Given the description of an element on the screen output the (x, y) to click on. 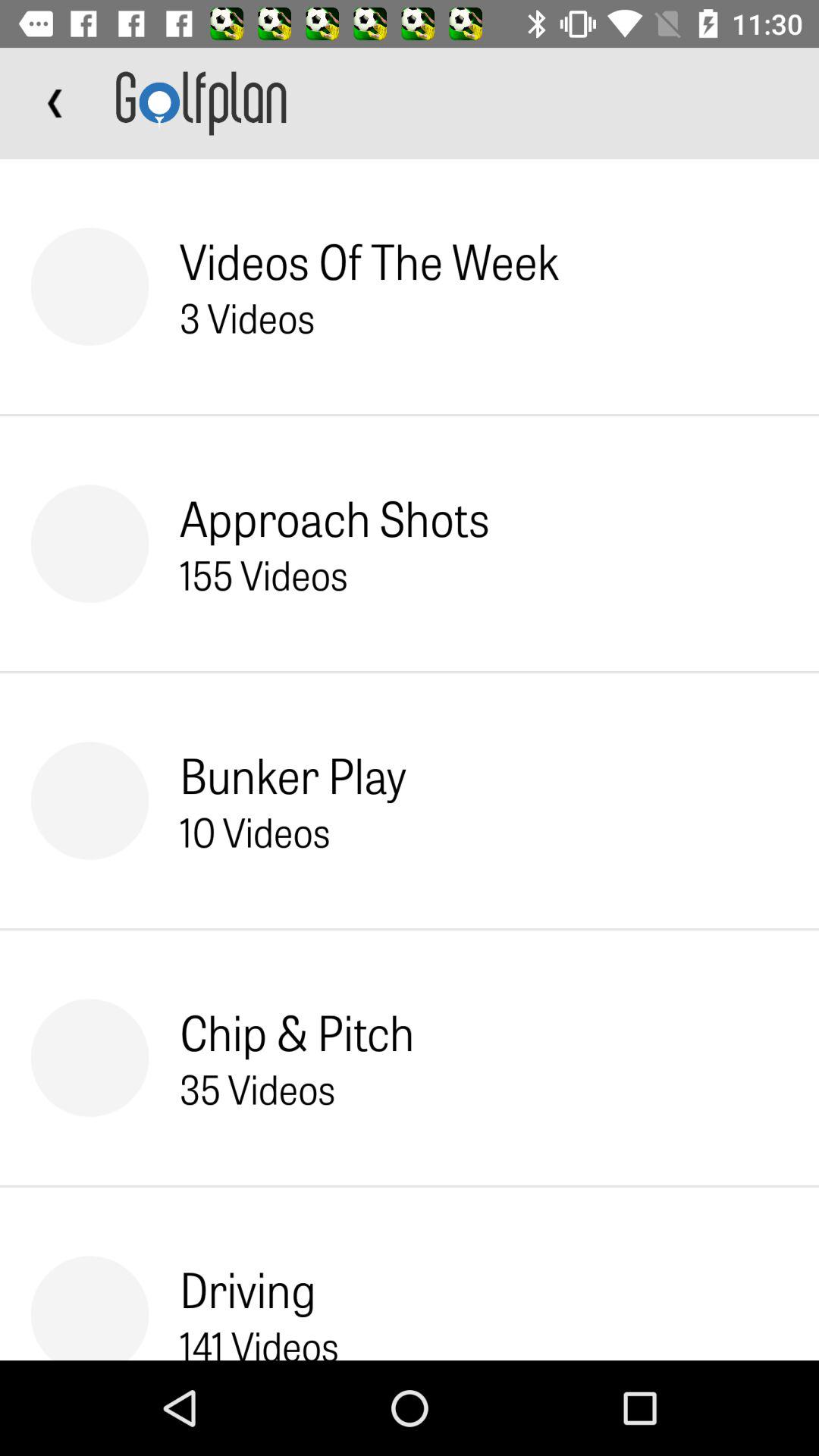
flip to 10 videos icon (254, 831)
